Given the description of an element on the screen output the (x, y) to click on. 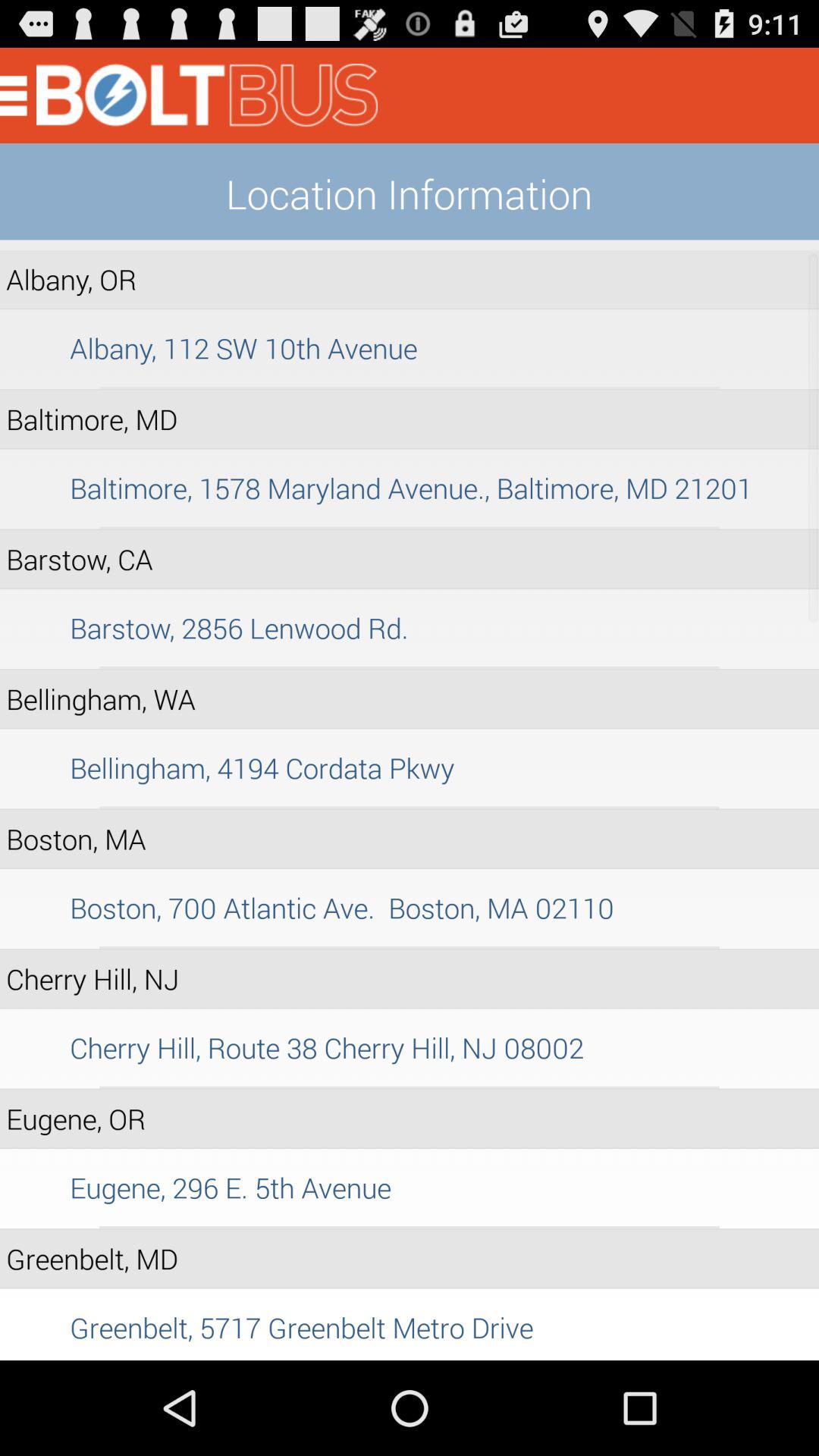
turn off the item below the baltimore 1578 maryland item (409, 527)
